Given the description of an element on the screen output the (x, y) to click on. 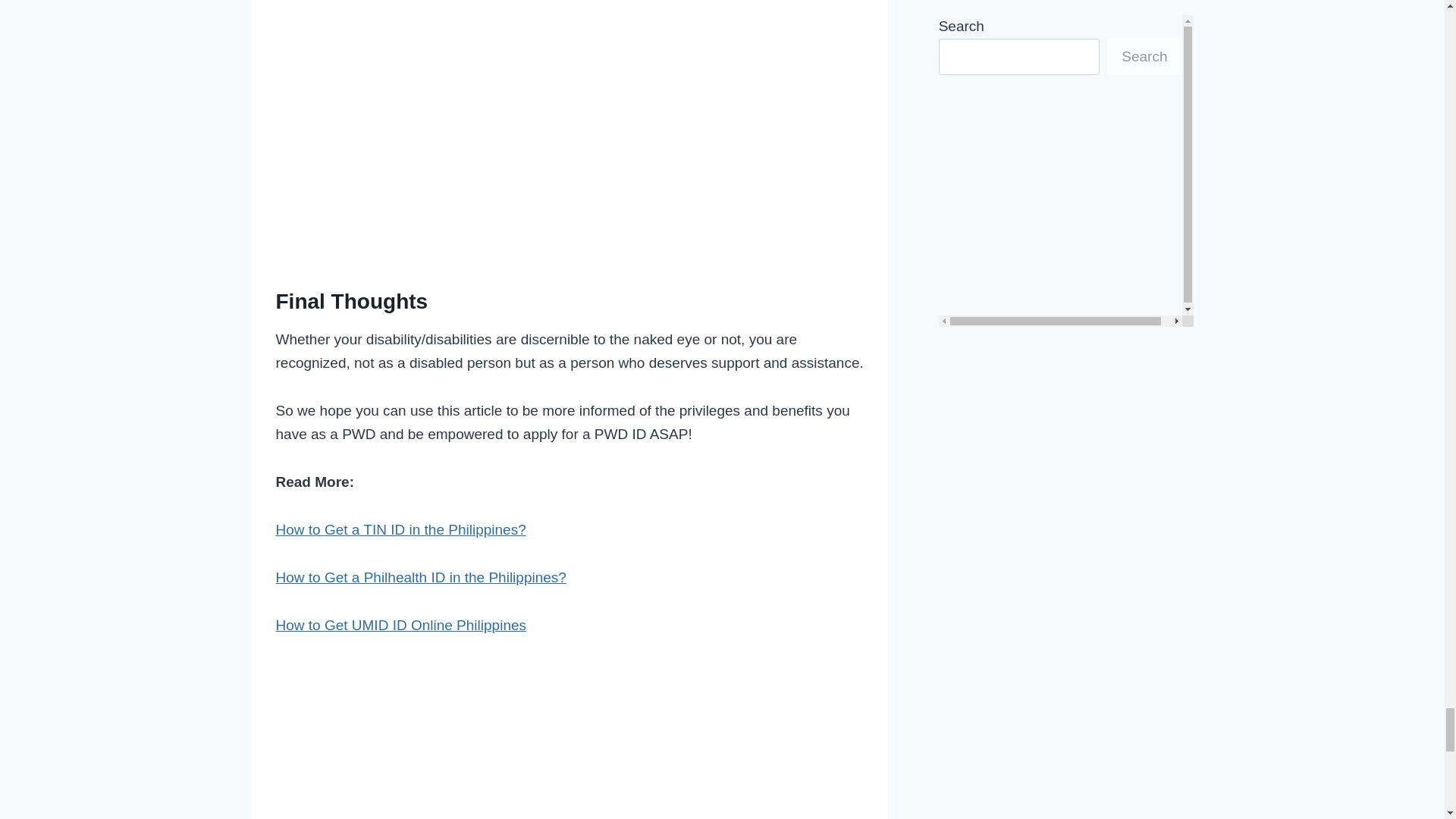
How to Get UMID ID Online Philippines (401, 625)
How to Get a Philhealth ID in the Philippines? (421, 577)
How to Get a TIN ID in the Philippines? (400, 529)
